Given the description of an element on the screen output the (x, y) to click on. 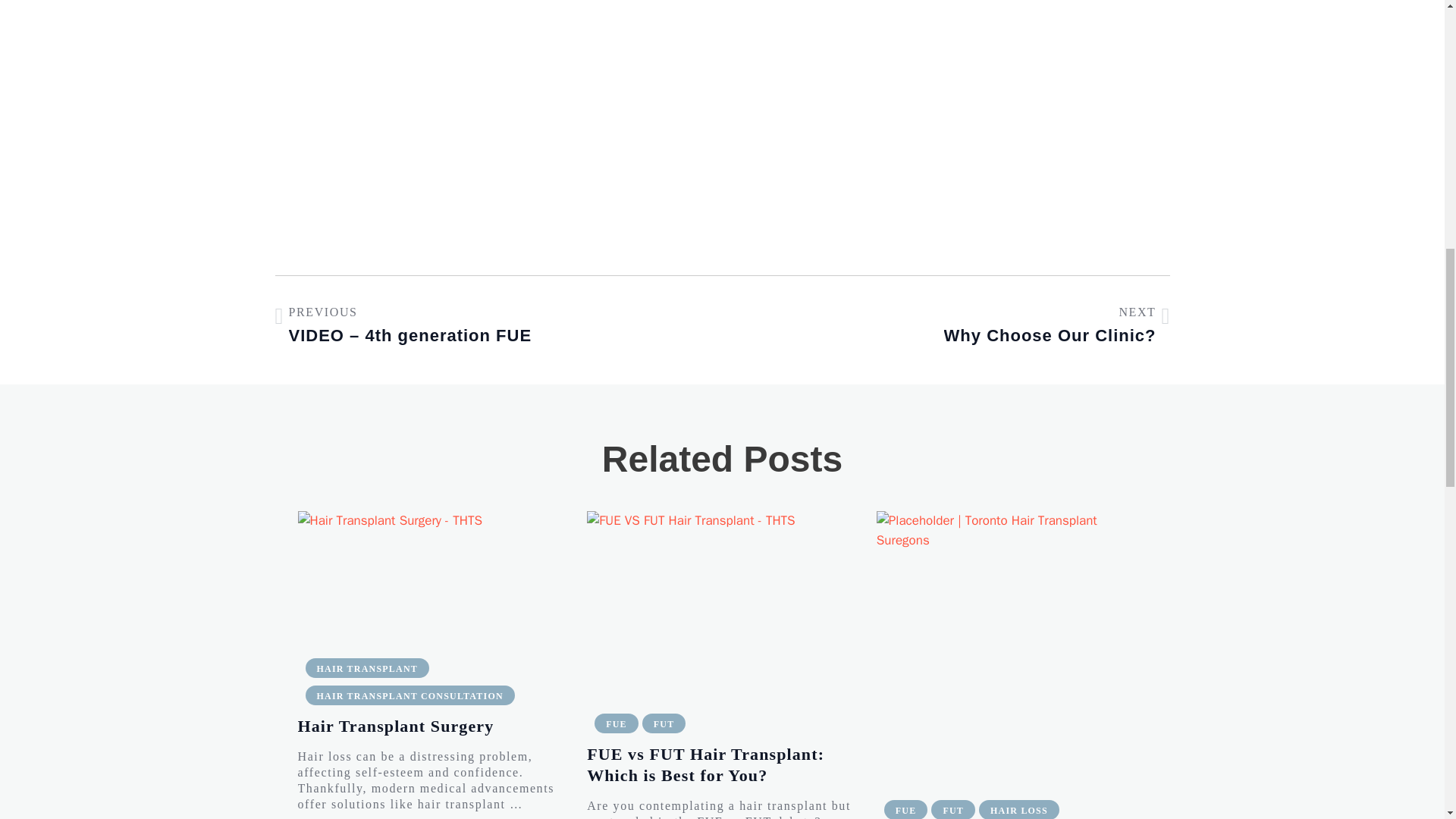
FUE vs FUT Hair Transplant: Which is Best for You? (721, 603)
Hair Transplant Surgery (432, 575)
Hair Cloning (1011, 646)
